Given the description of an element on the screen output the (x, y) to click on. 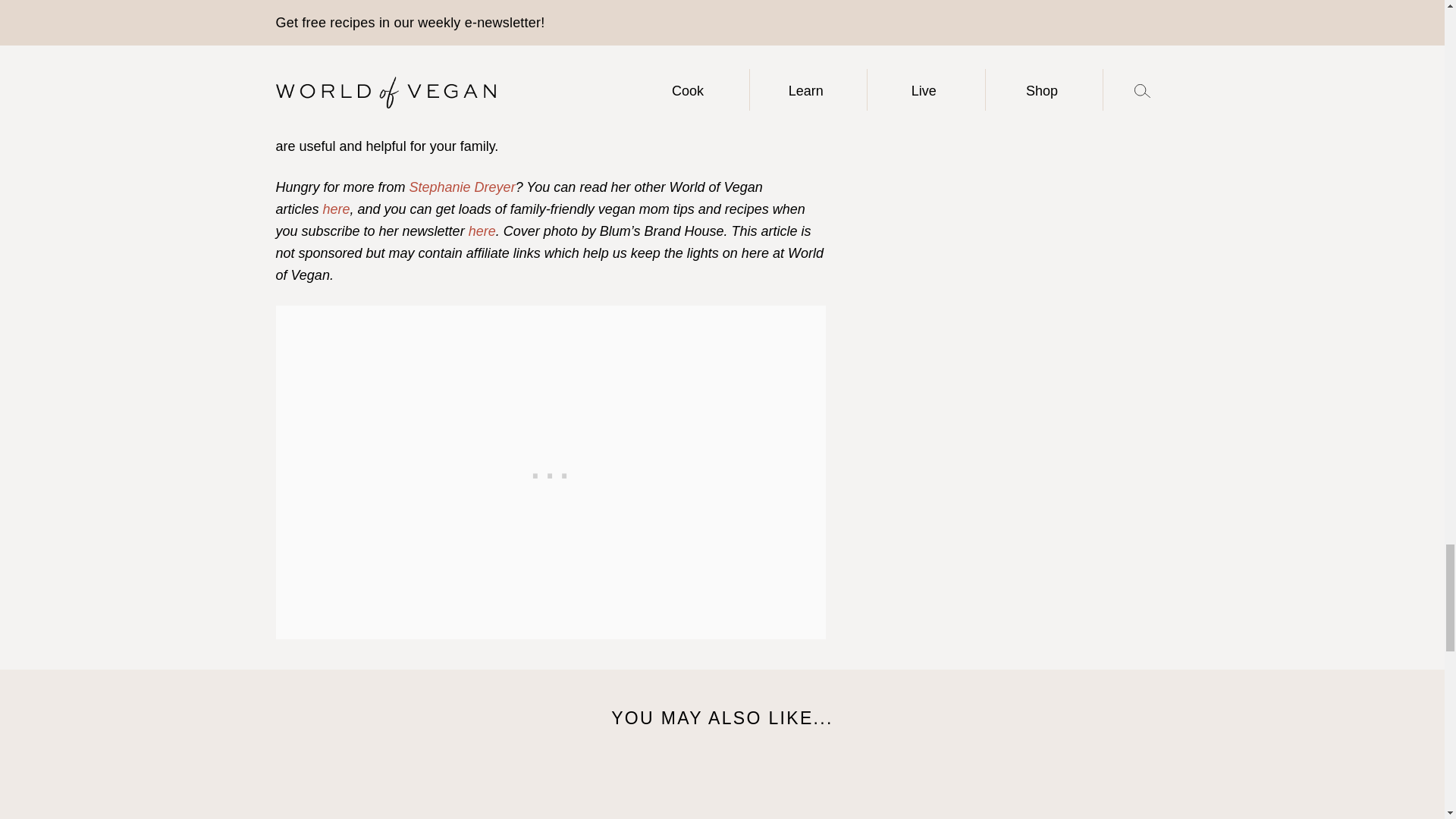
10 Vegan Mistakes You'll Probably Make When Going Vegan (378, 790)
Raise Money With Pasta FUNdraising! (1065, 790)
How to Introduce Your Family to Plant-Based Eating (836, 790)
